Given the description of an element on the screen output the (x, y) to click on. 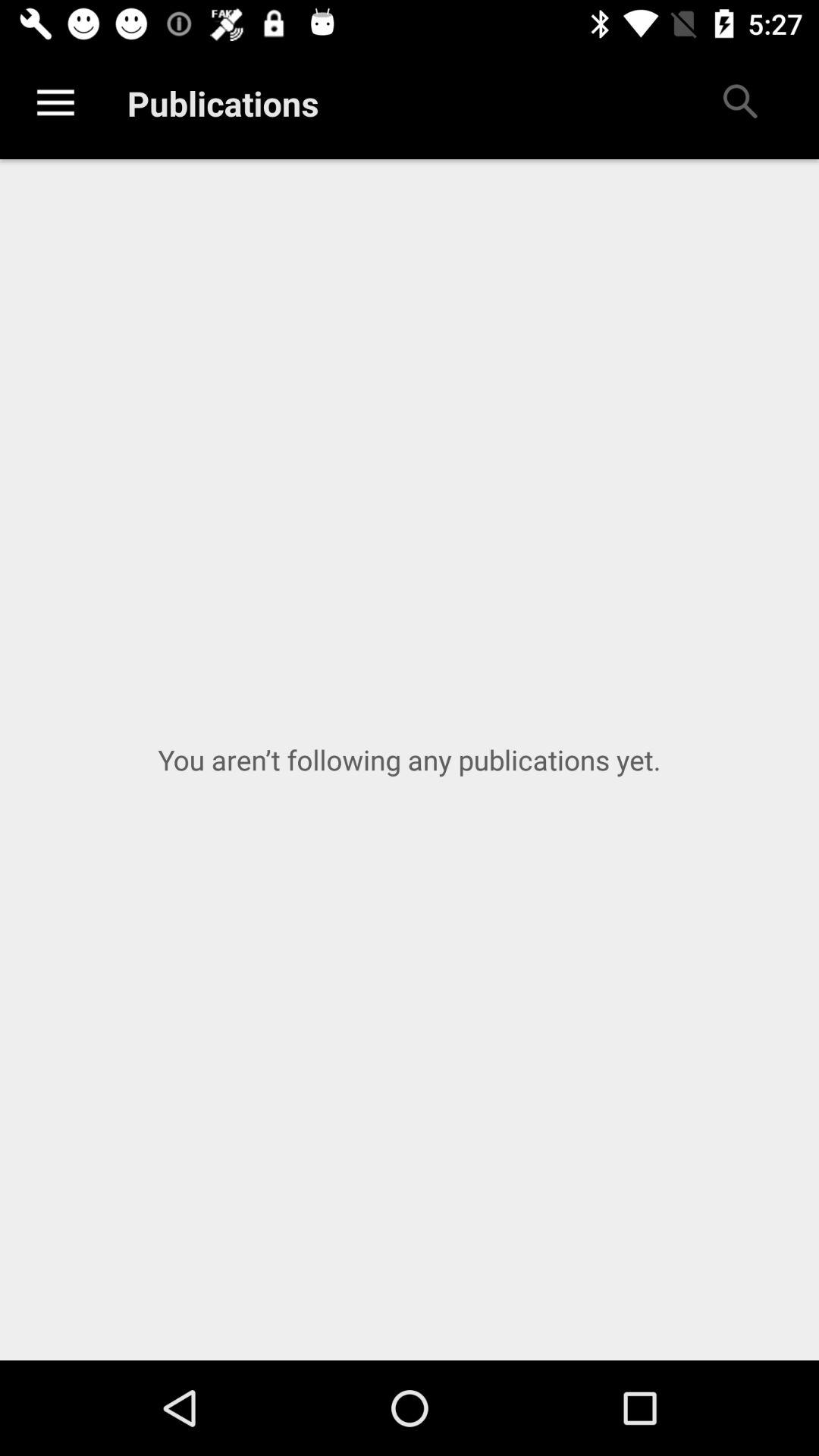
press the item next to the publications icon (55, 103)
